Given the description of an element on the screen output the (x, y) to click on. 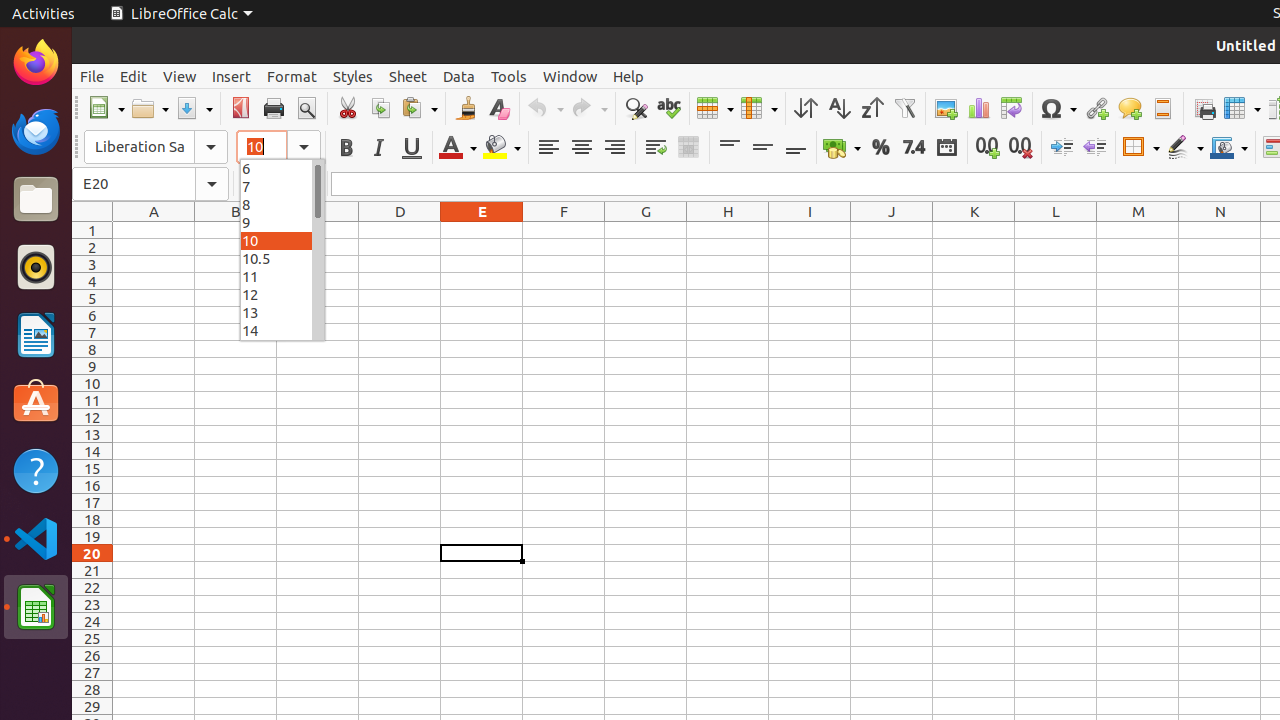
Hyperlink Element type: toggle-button (1096, 108)
Data Element type: menu (459, 76)
A1 Element type: table-cell (154, 230)
G1 Element type: table-cell (646, 230)
6 Element type: list-item (282, 168)
